Given the description of an element on the screen output the (x, y) to click on. 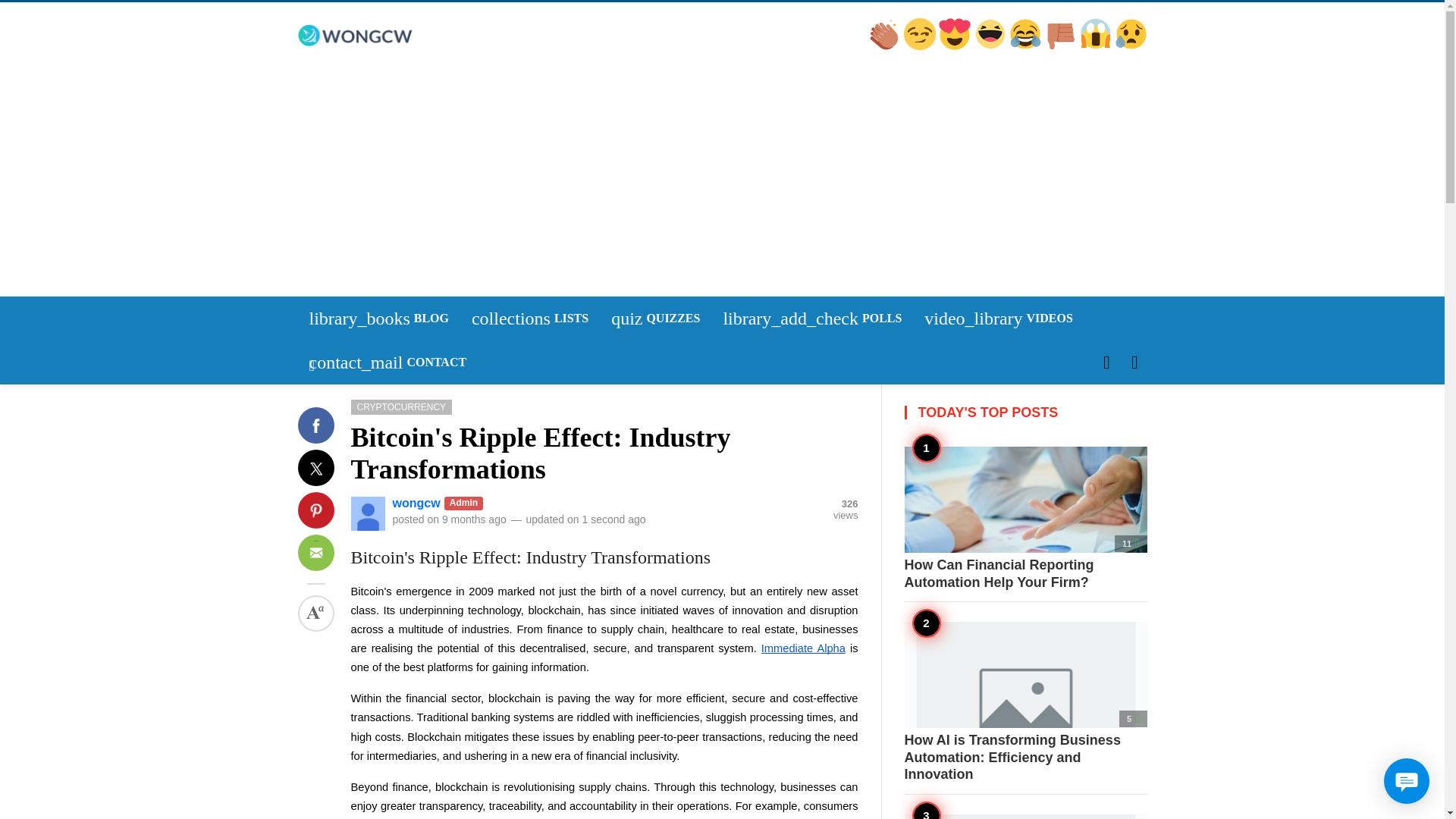
LOVED (956, 45)
Log in (329, 474)
Advertisement (529, 318)
FUNNY (655, 318)
LOL (1026, 45)
NICE (1062, 45)
AWESOME! (991, 45)
sign up (921, 45)
EW! (884, 45)
AWESOME! (331, 474)
OMG! (333, 475)
EW! (334, 475)
